Given the description of an element on the screen output the (x, y) to click on. 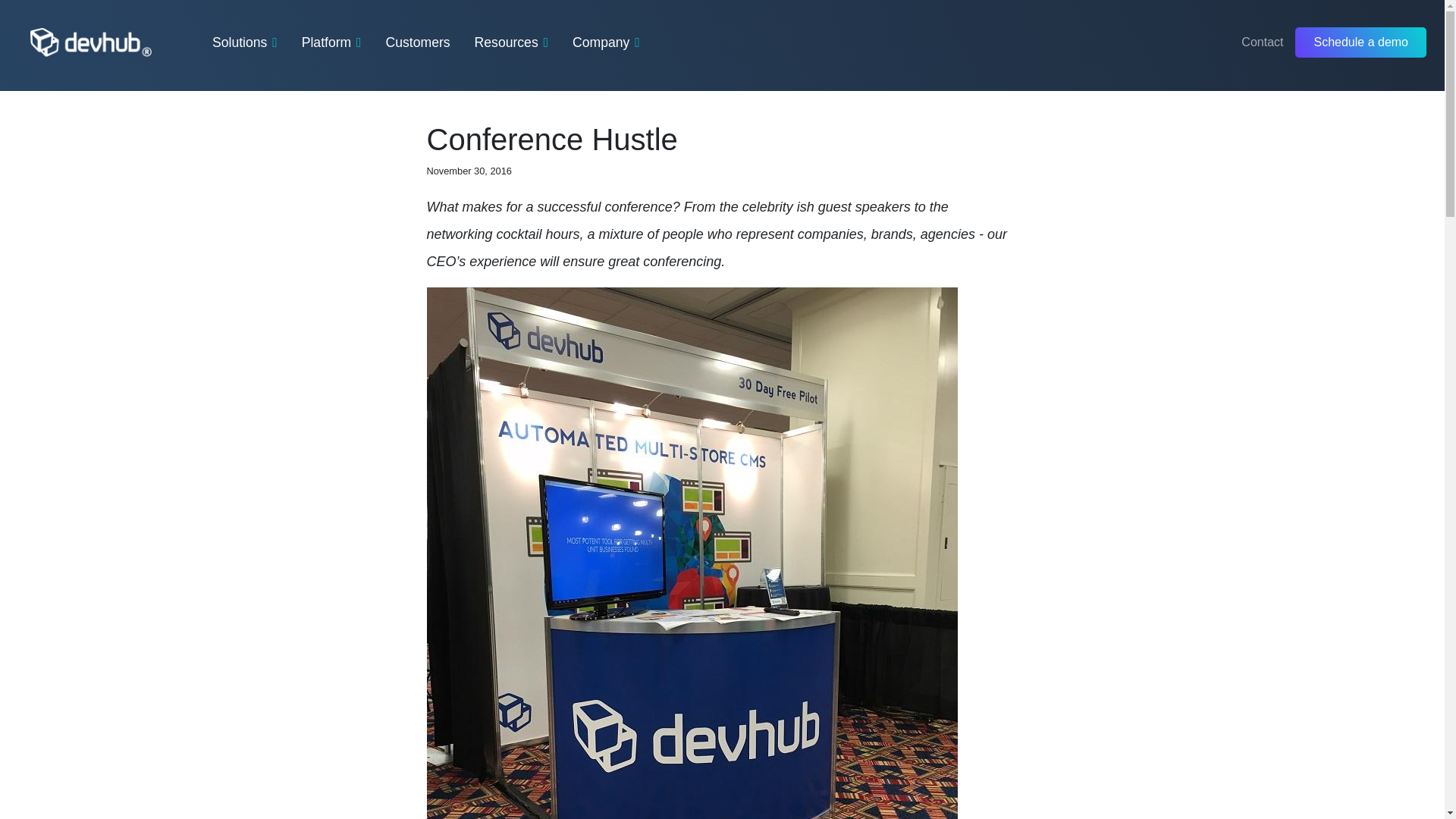
Customers (418, 42)
Contact (1261, 42)
Solutions (244, 42)
Resources (511, 42)
Schedule a demo (1360, 42)
Company (606, 42)
Platform (331, 42)
